Given the description of an element on the screen output the (x, y) to click on. 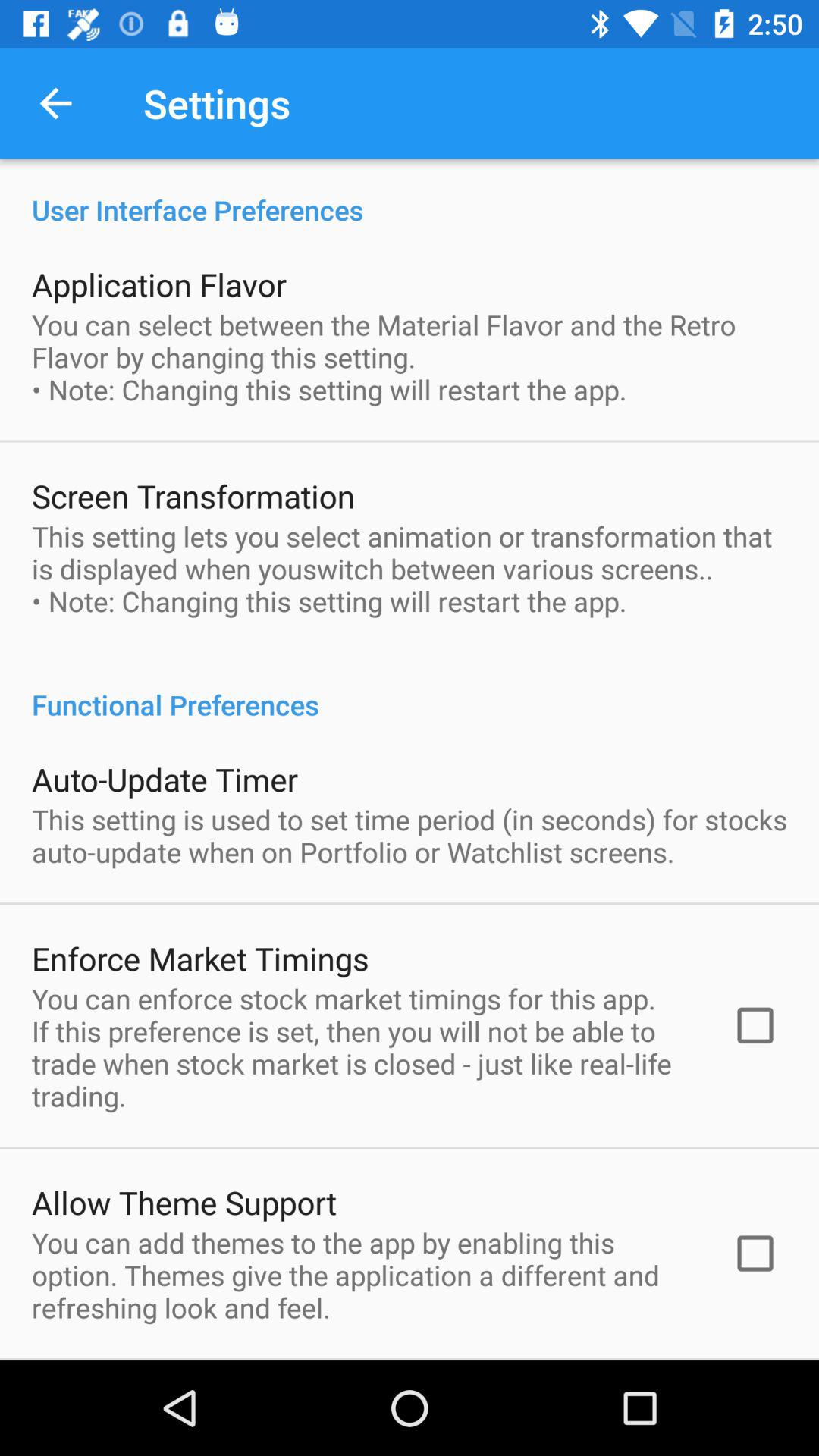
launch the item at the bottom left corner (183, 1201)
